Given the description of an element on the screen output the (x, y) to click on. 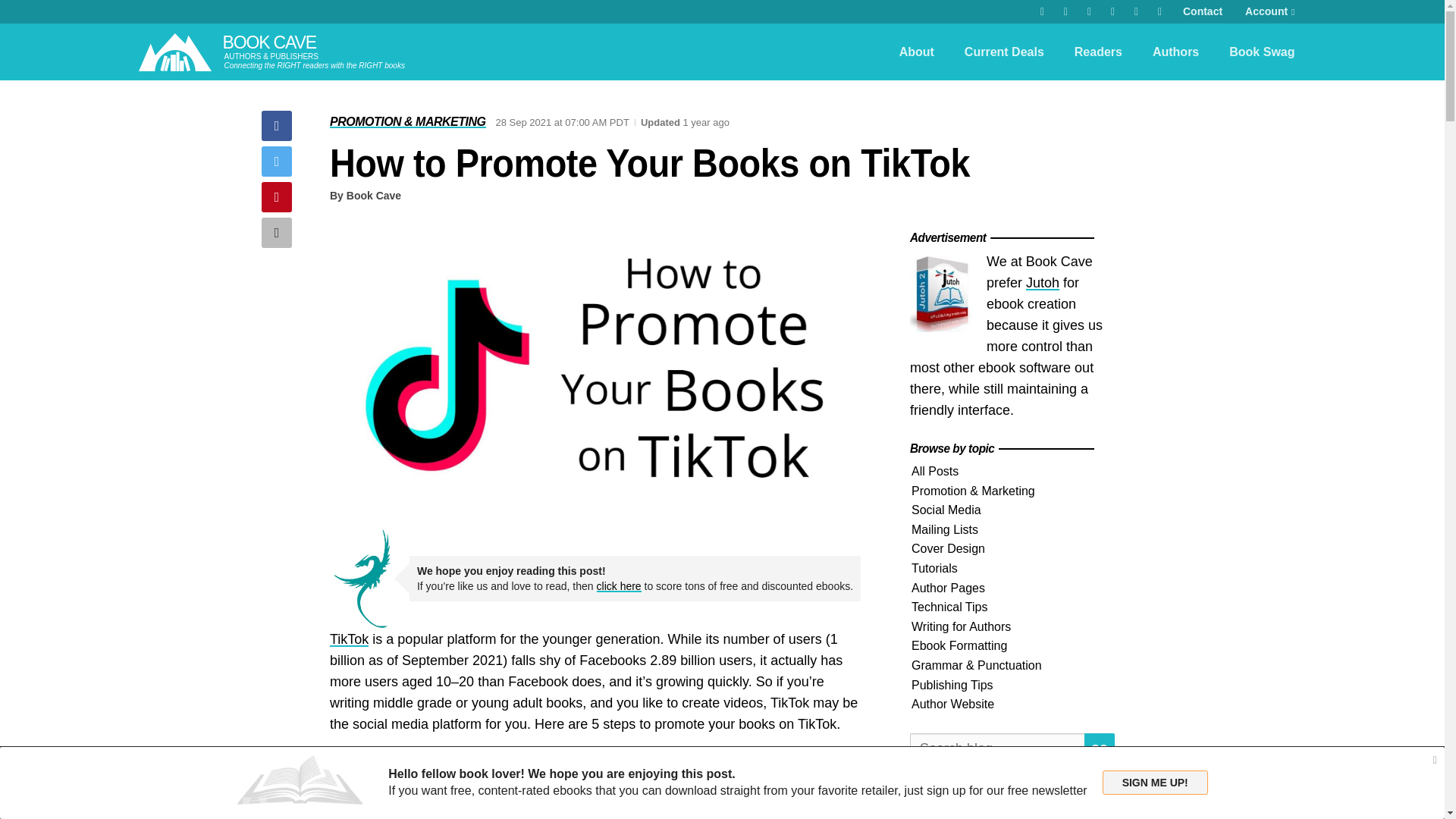
Share on Facebook (277, 125)
Current Deals (1004, 51)
Pin It on Pinterest (277, 196)
About (916, 51)
Share through email (277, 232)
BOOK CAVE (268, 42)
Tweet This (277, 161)
Contact (1202, 11)
Account (1269, 11)
Readers (1098, 51)
